Given the description of an element on the screen output the (x, y) to click on. 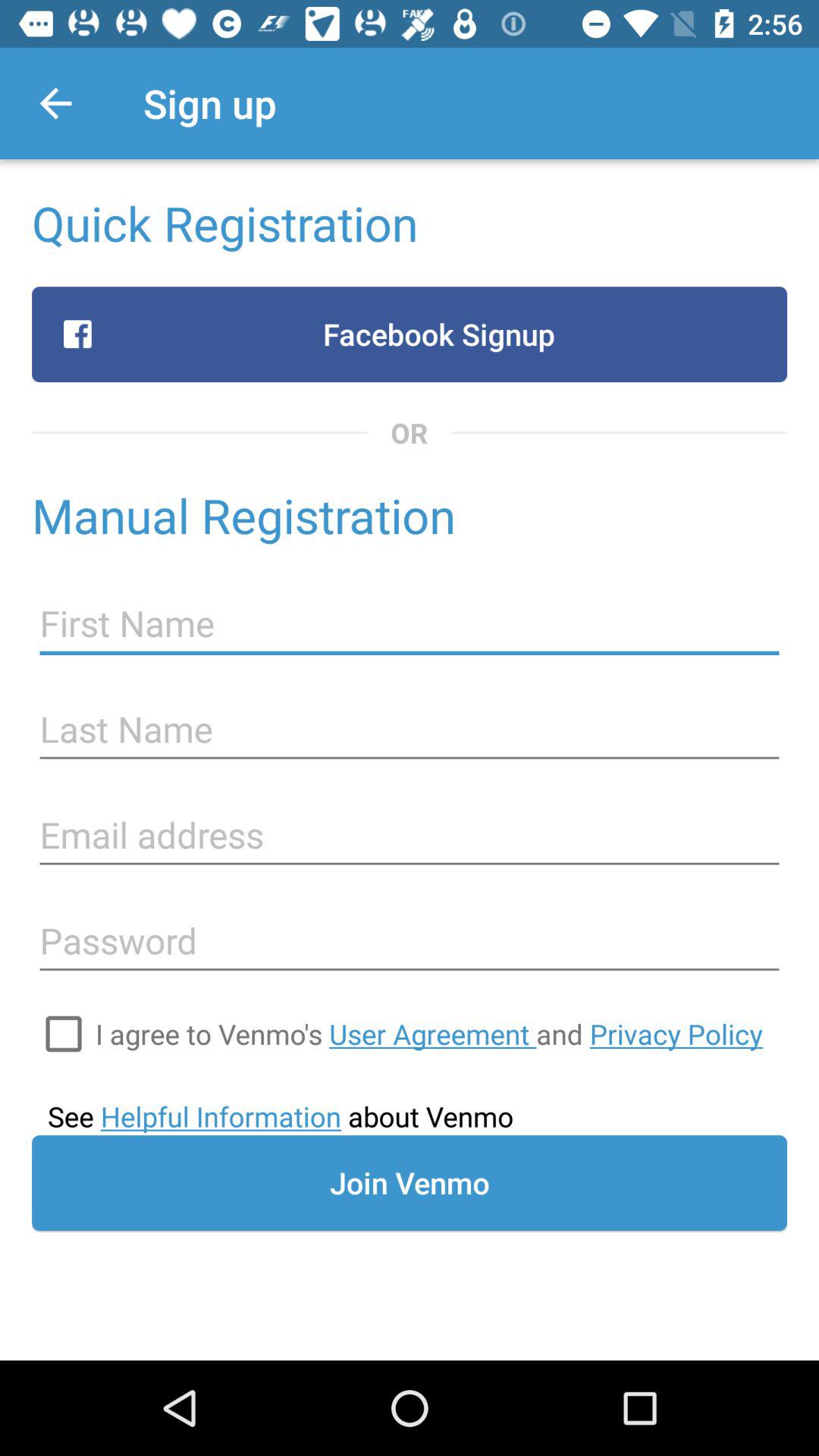
turn off the icon at the bottom left corner (63, 1033)
